Given the description of an element on the screen output the (x, y) to click on. 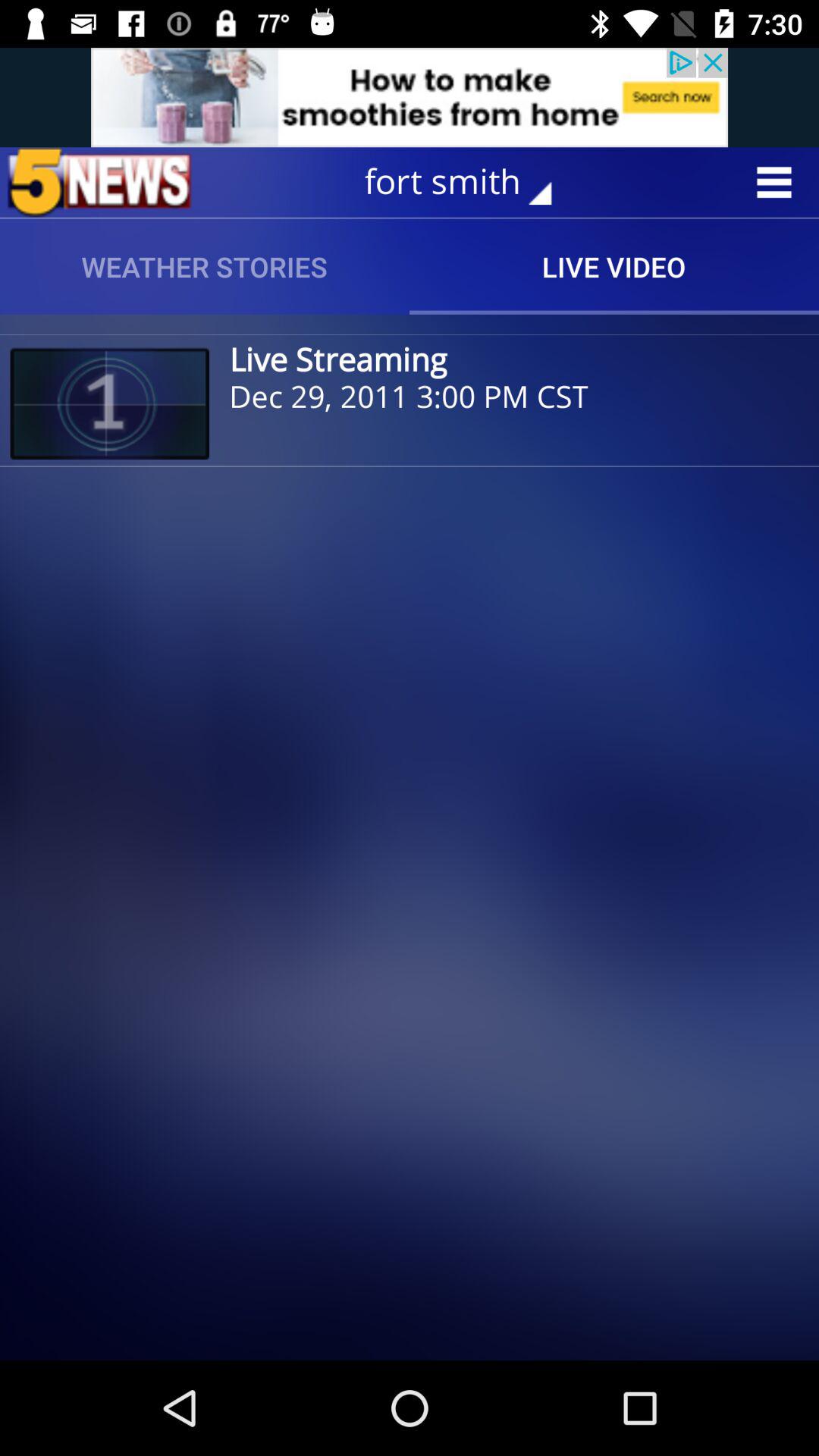
go to news (99, 182)
